Given the description of an element on the screen output the (x, y) to click on. 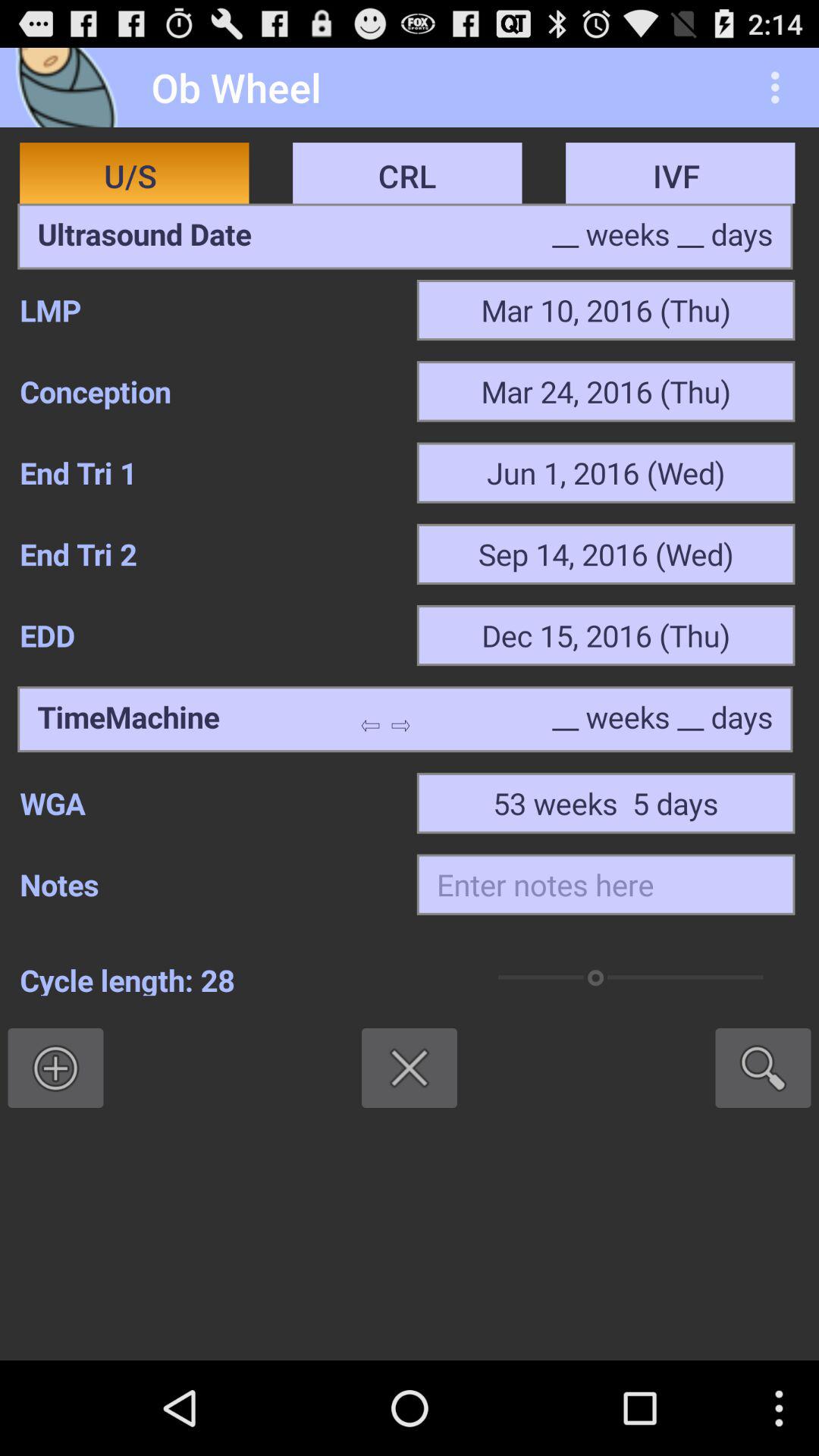
select icon to the left of crl (144, 236)
